Given the description of an element on the screen output the (x, y) to click on. 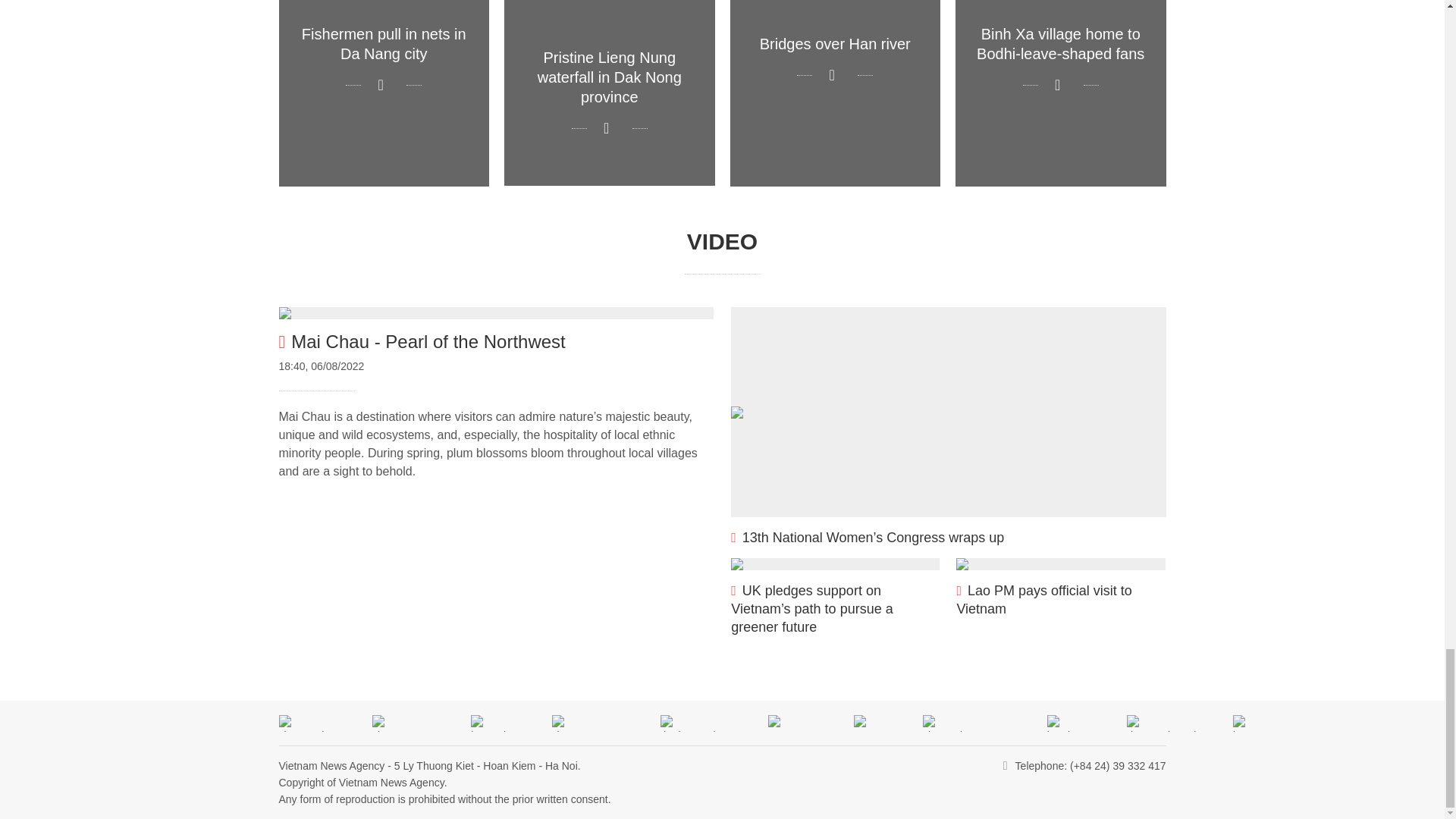
Bridges over Han river (834, 93)
Pristine Lieng Nung waterfall in Dak Nong province (608, 92)
Fishermen pull in nets in Da Nang city (384, 93)
